Given the description of an element on the screen output the (x, y) to click on. 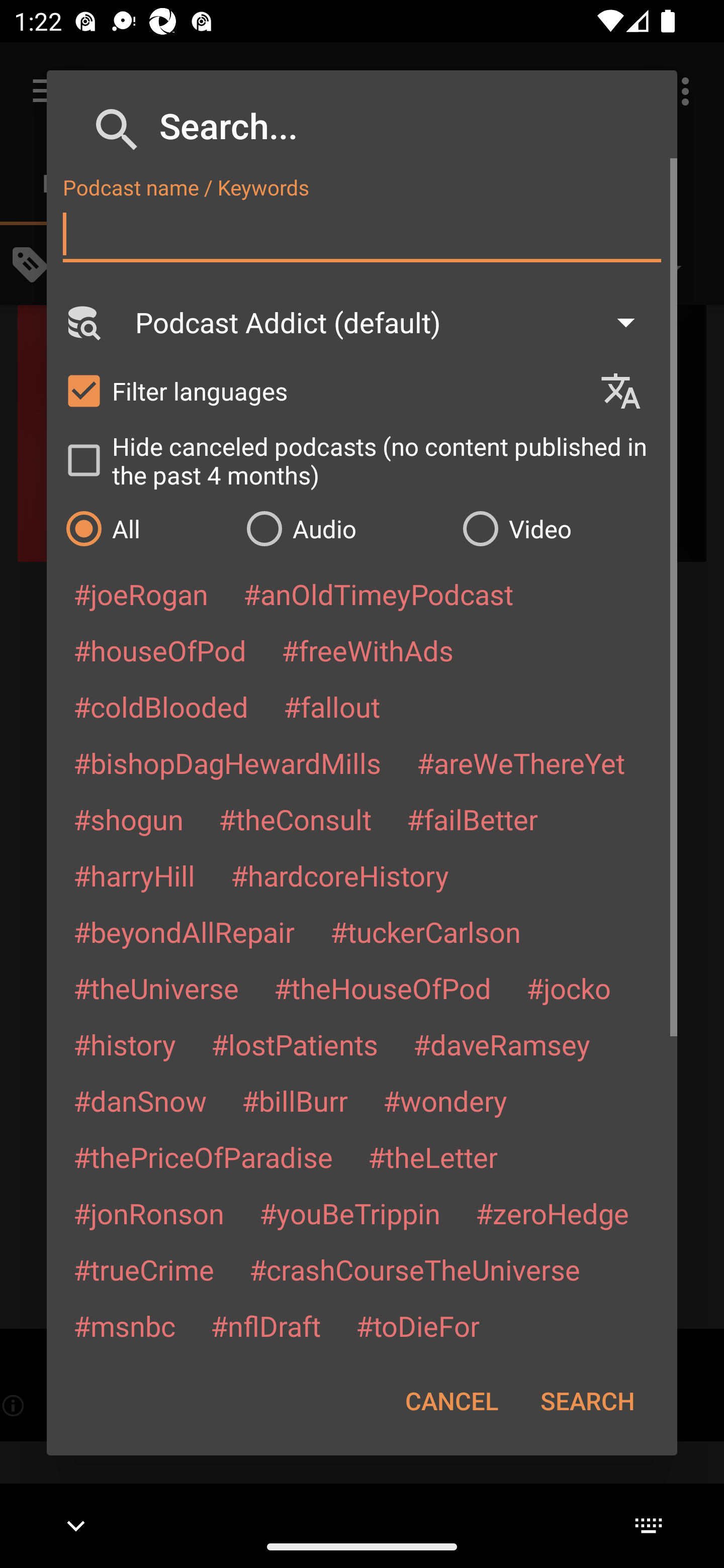
Podcast name / Keywords (361, 234)
Search Engine (82, 322)
Podcast Addict (default) (394, 322)
Languages selection (629, 390)
Filter languages (322, 390)
All (145, 528)
Audio (344, 528)
Video (560, 528)
#joeRogan (140, 594)
#anOldTimeyPodcast (378, 594)
#houseOfPod (159, 650)
#freeWithAds (367, 650)
#coldBlooded (160, 705)
#fallout (331, 705)
#bishopDagHewardMills (227, 762)
#areWeThereYet (521, 762)
#shogun (128, 818)
#theConsult (294, 818)
#failBetter (471, 818)
#harryHill (134, 875)
#hardcoreHistory (339, 875)
#beyondAllRepair (184, 931)
#tuckerCarlson (425, 931)
#theUniverse (155, 987)
#theHouseOfPod (381, 987)
#jocko (568, 987)
#history (124, 1044)
#lostPatients (294, 1044)
#daveRamsey (501, 1044)
#danSnow (139, 1100)
#billBurr (294, 1100)
#wondery (444, 1100)
#thePriceOfParadise (203, 1157)
#theLetter (432, 1157)
#jonRonson (148, 1213)
#youBeTrippin (349, 1213)
#zeroHedge (552, 1213)
#trueCrime (143, 1268)
#crashCourseTheUniverse (414, 1268)
#msnbc (124, 1325)
#nflDraft (265, 1325)
#toDieFor (417, 1325)
CANCEL (451, 1400)
SEARCH (587, 1400)
